Given the description of an element on the screen output the (x, y) to click on. 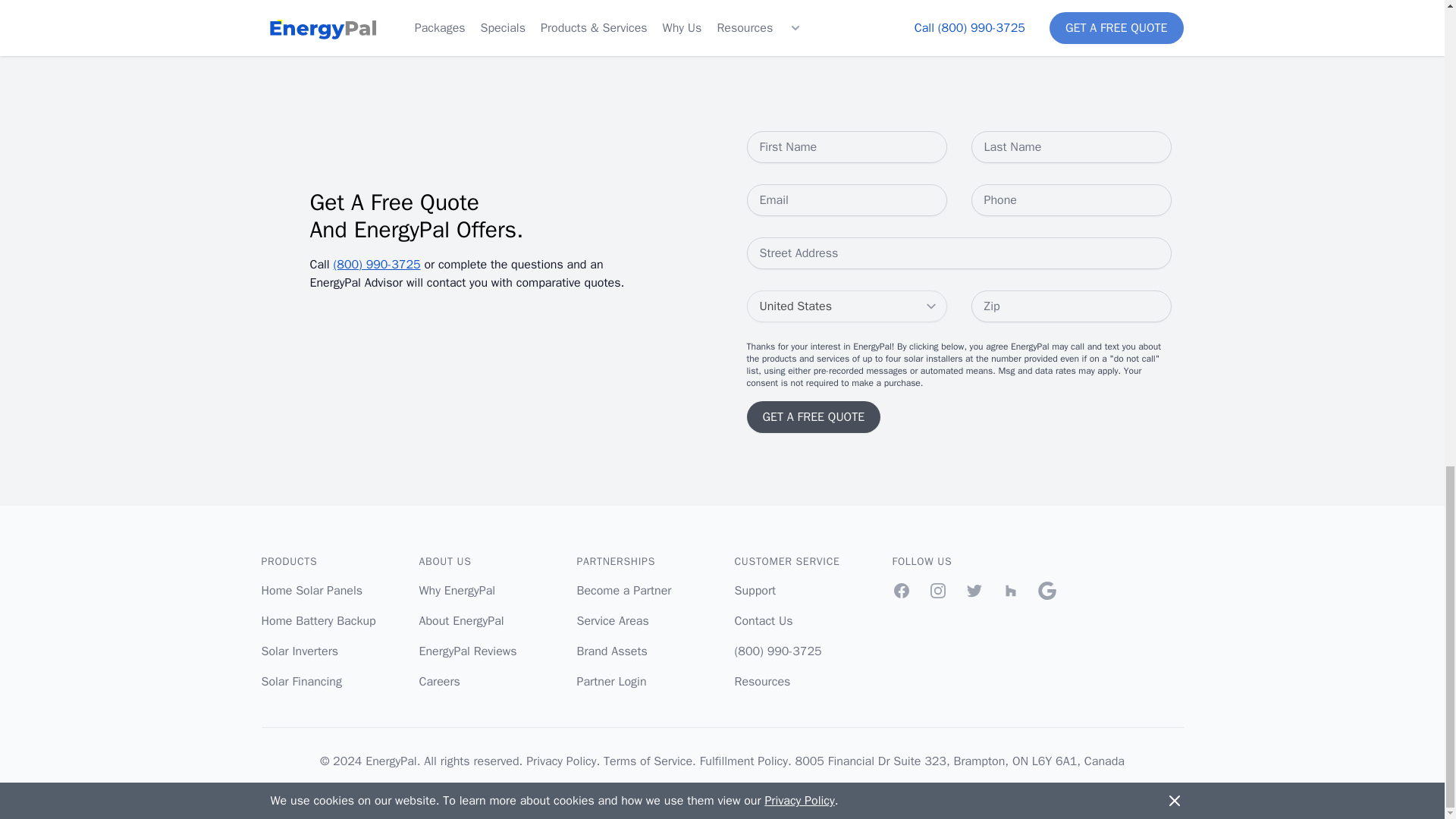
Home Solar Panels (311, 590)
Home Battery Backup (317, 620)
Service Areas (611, 620)
GET A FREE QUOTE (812, 417)
Support (754, 590)
Become a Partner (623, 590)
Facebook (900, 590)
Partner Login (611, 681)
Resources (761, 681)
Careers (439, 681)
